Given the description of an element on the screen output the (x, y) to click on. 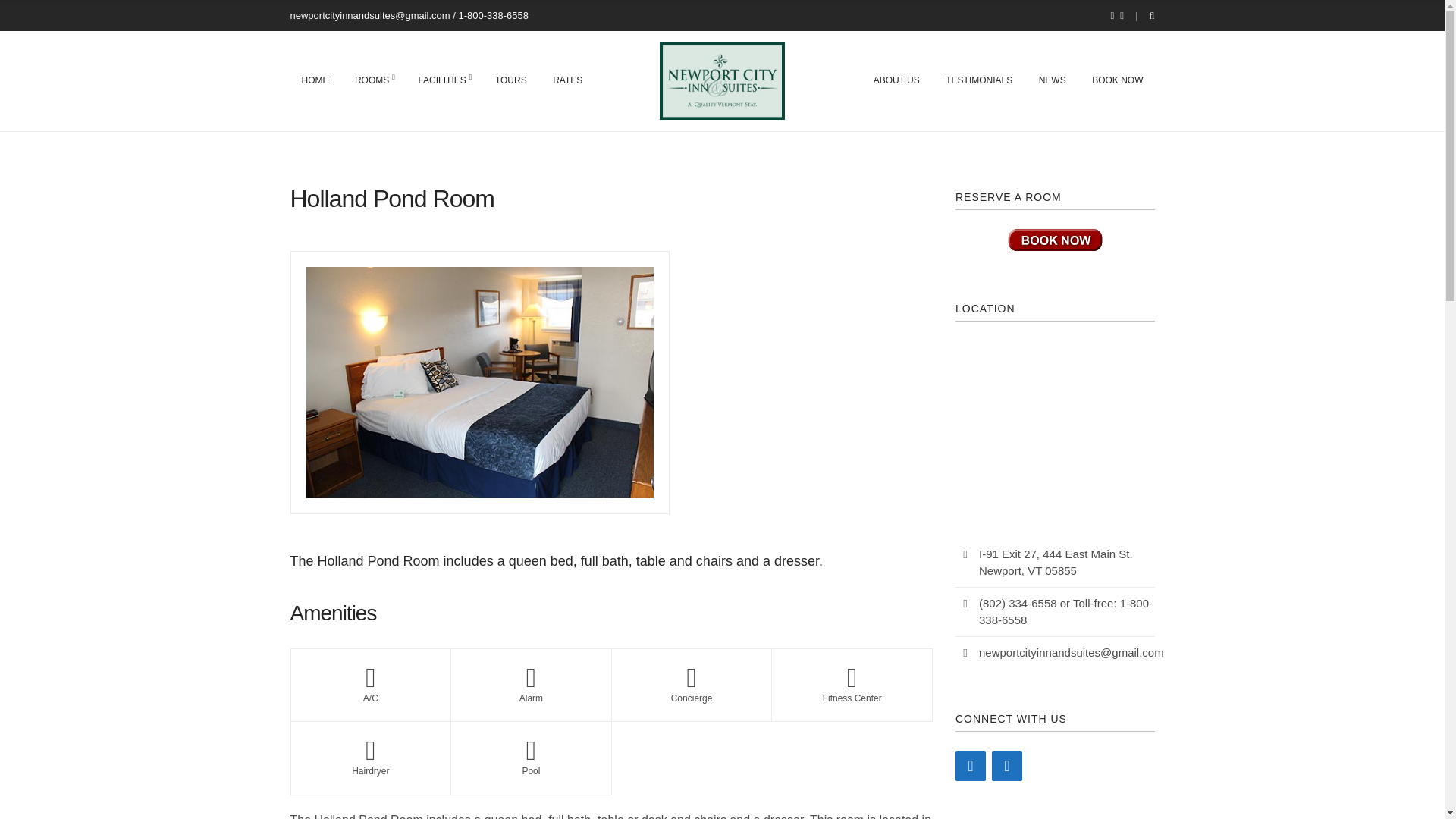
BOOK NOW (1117, 81)
TESTIMONIALS (977, 81)
ROOMS (373, 81)
NEWS (1052, 81)
HOME (315, 81)
FACILITIES (442, 81)
Facebook (970, 766)
ABOUT US (896, 81)
TOURS (511, 81)
RATES (567, 81)
Twitter (1006, 766)
